Given the description of an element on the screen output the (x, y) to click on. 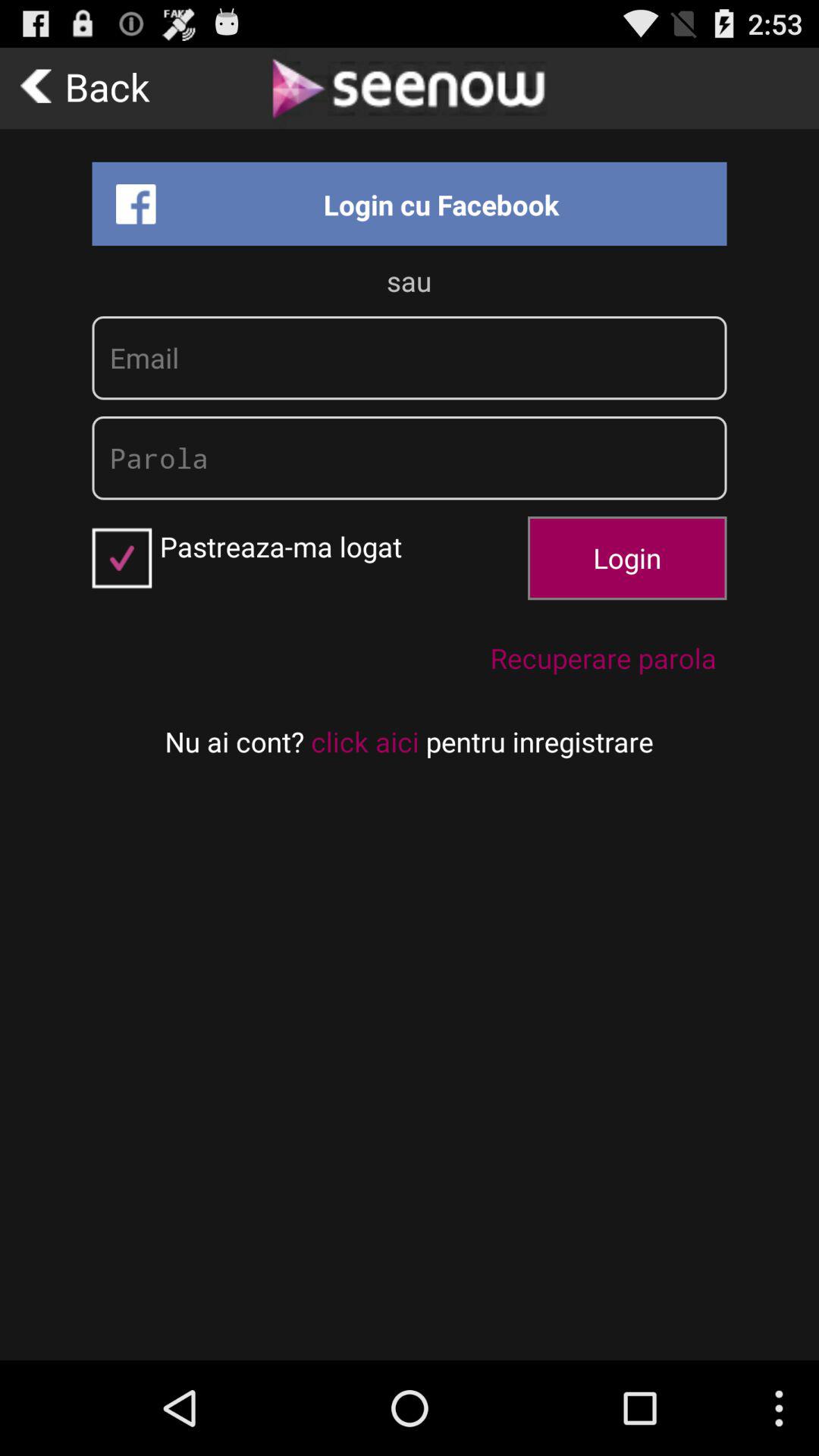
email field (409, 357)
